Given the description of an element on the screen output the (x, y) to click on. 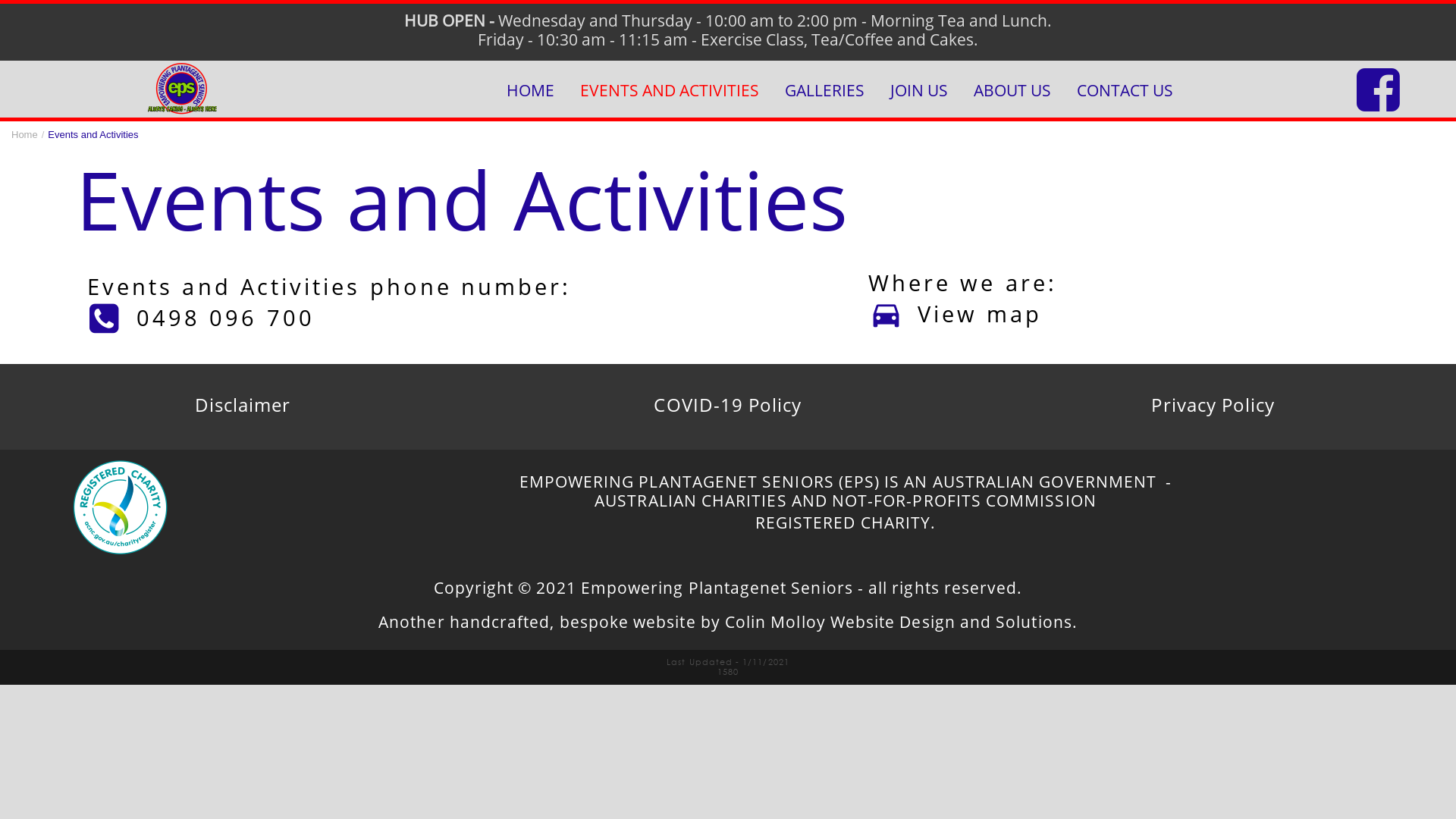
COVID-19 Policy Element type: text (727, 406)
Privacy Policy Element type: text (1212, 406)
Home Element type: text (24, 134)
View map Element type: text (1026, 312)
GALLERIES Element type: text (824, 90)
HOME Element type: text (530, 90)
ABOUT US Element type: text (1012, 90)
CONTACT US Element type: text (1124, 90)
View map Element type: text (979, 315)
EVENTS AND ACTIVITIES Element type: text (669, 90)
AUSTRALIAN CHARITIES AND NOT-FOR-PROFITS COMMISSION Element type: text (845, 502)
Privacy Policy Element type: text (1213, 406)
COVID-19 Policy Element type: text (727, 406)
JOIN US Element type: text (919, 90)
Disclaimer Element type: text (242, 406)
Colin Molloy Website Design and Solutions Element type: text (898, 623)
Disclaimer Element type: text (242, 406)
